Given the description of an element on the screen output the (x, y) to click on. 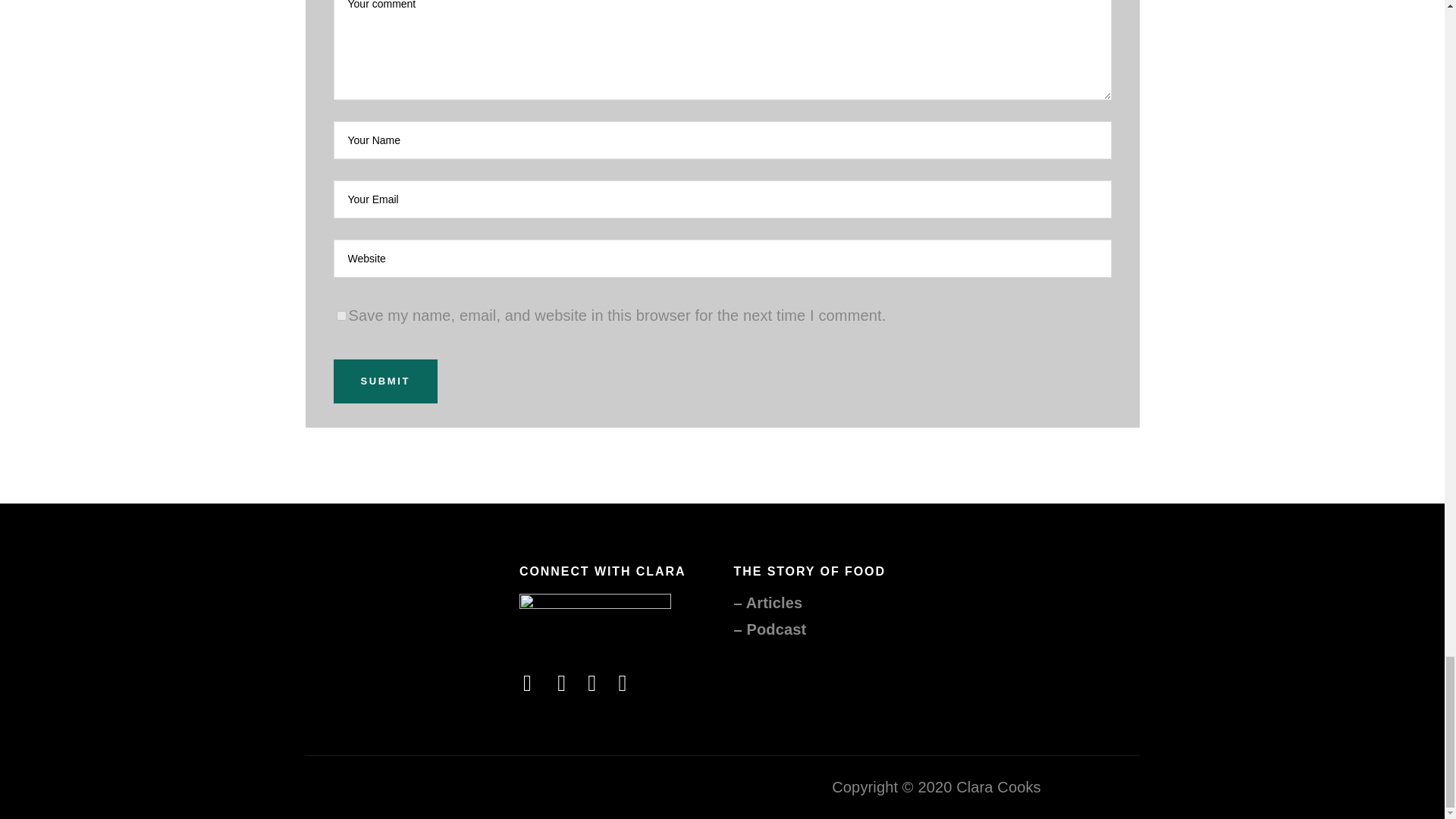
yes (341, 316)
Connect with Clara (595, 616)
Submit (385, 381)
